Given the description of an element on the screen output the (x, y) to click on. 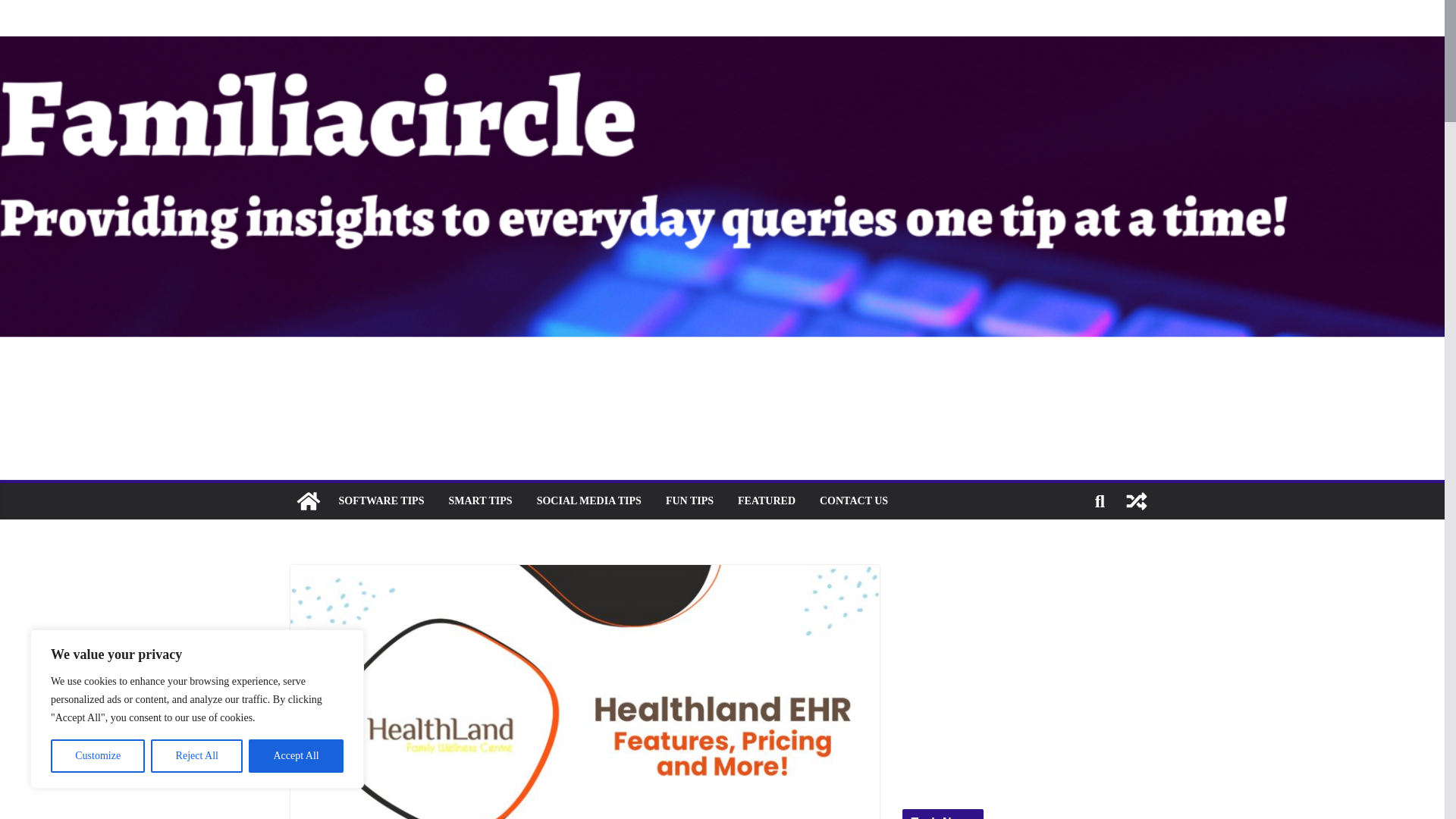
Familiacircle (307, 501)
Accept All (295, 756)
SMART TIPS (480, 500)
Customize (97, 756)
CONTACT US (853, 500)
FUN TIPS (689, 500)
Reject All (197, 756)
SOFTWARE TIPS (380, 500)
SOCIAL MEDIA TIPS (589, 500)
